Given the description of an element on the screen output the (x, y) to click on. 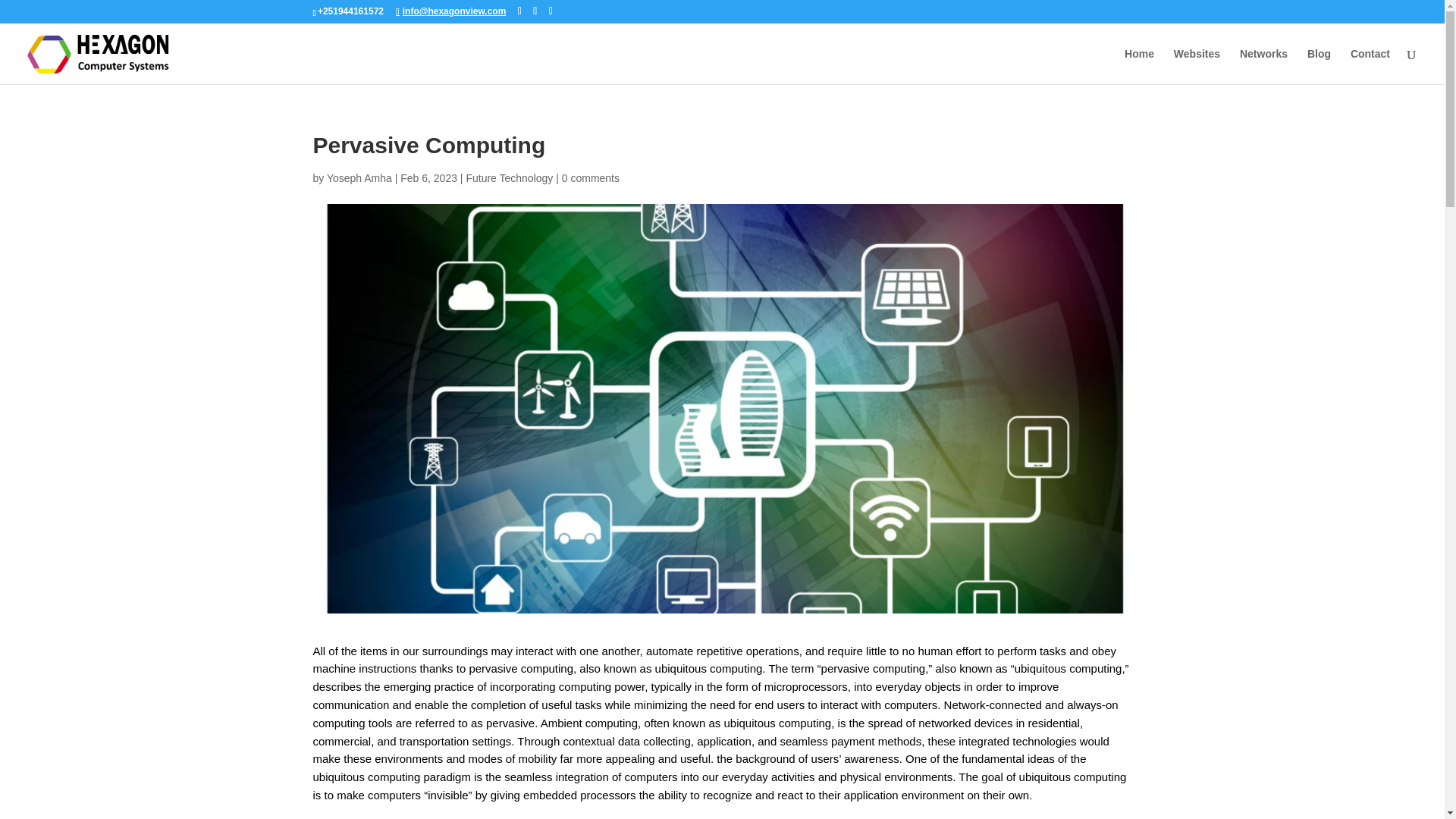
Yoseph Amha (358, 177)
Future Technology (509, 177)
Websites (1196, 66)
Networks (1263, 66)
0 comments (591, 177)
Posts by Yoseph Amha (358, 177)
Contact (1370, 66)
